Given the description of an element on the screen output the (x, y) to click on. 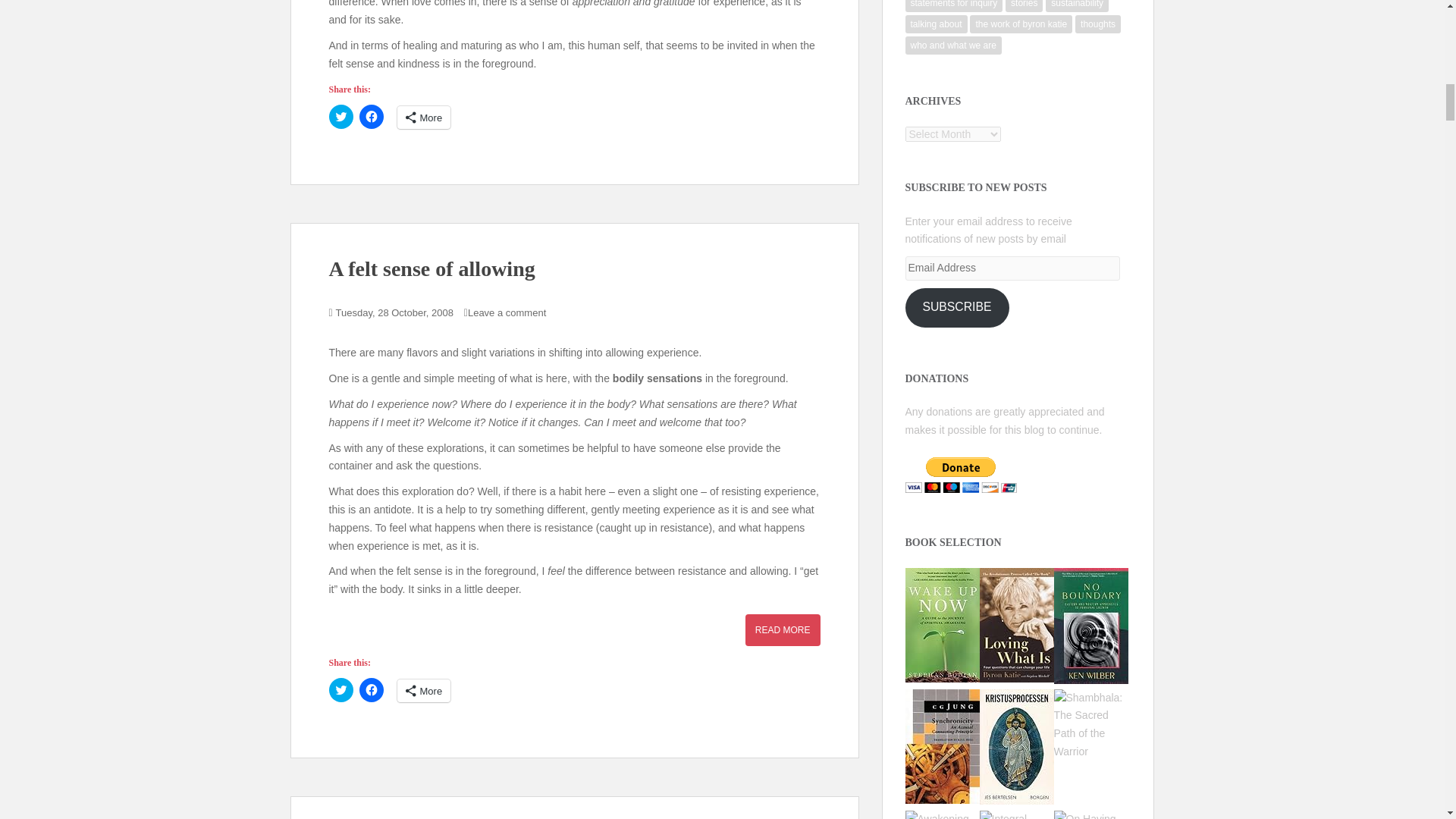
Click to share on Facebook (371, 116)
Click to share on Twitter (341, 689)
Click to share on Twitter (341, 116)
